Given the description of an element on the screen output the (x, y) to click on. 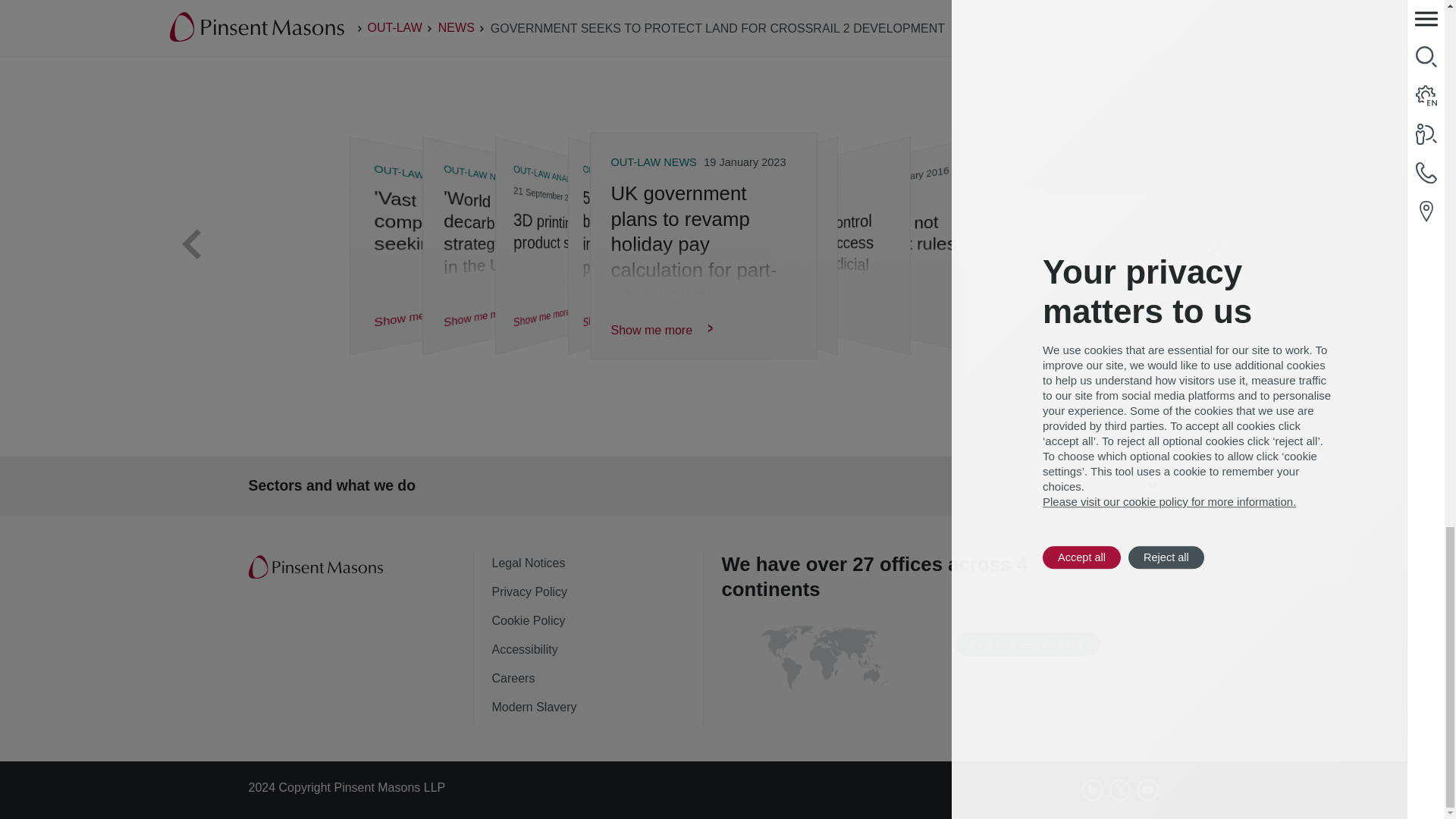
Pinsent Masons Twitter (1120, 789)
Pinsent Masons (316, 567)
Pinsent Masons LinkedIn (1092, 789)
